Given the description of an element on the screen output the (x, y) to click on. 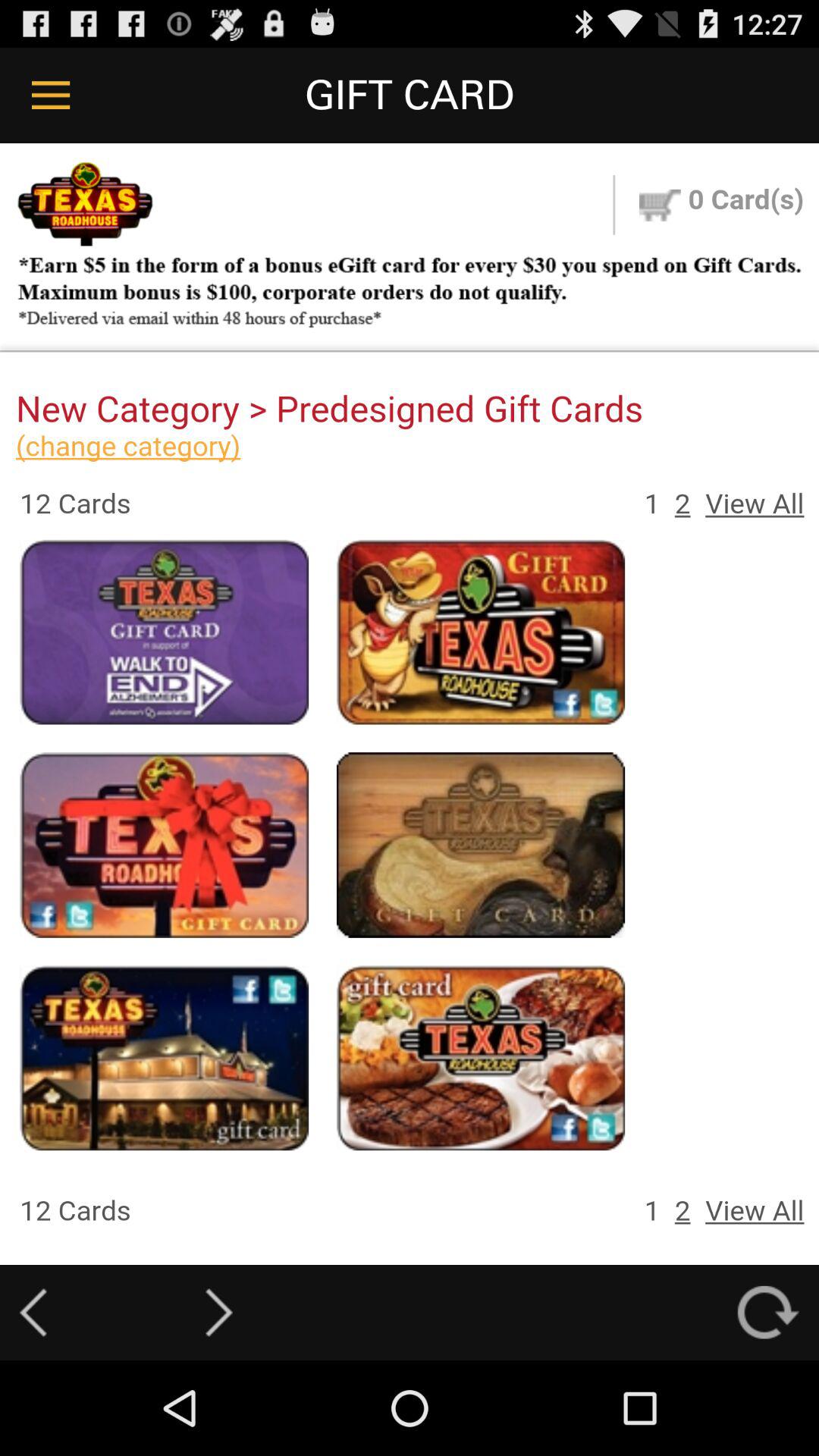
backword option (32, 1312)
